Given the description of an element on the screen output the (x, y) to click on. 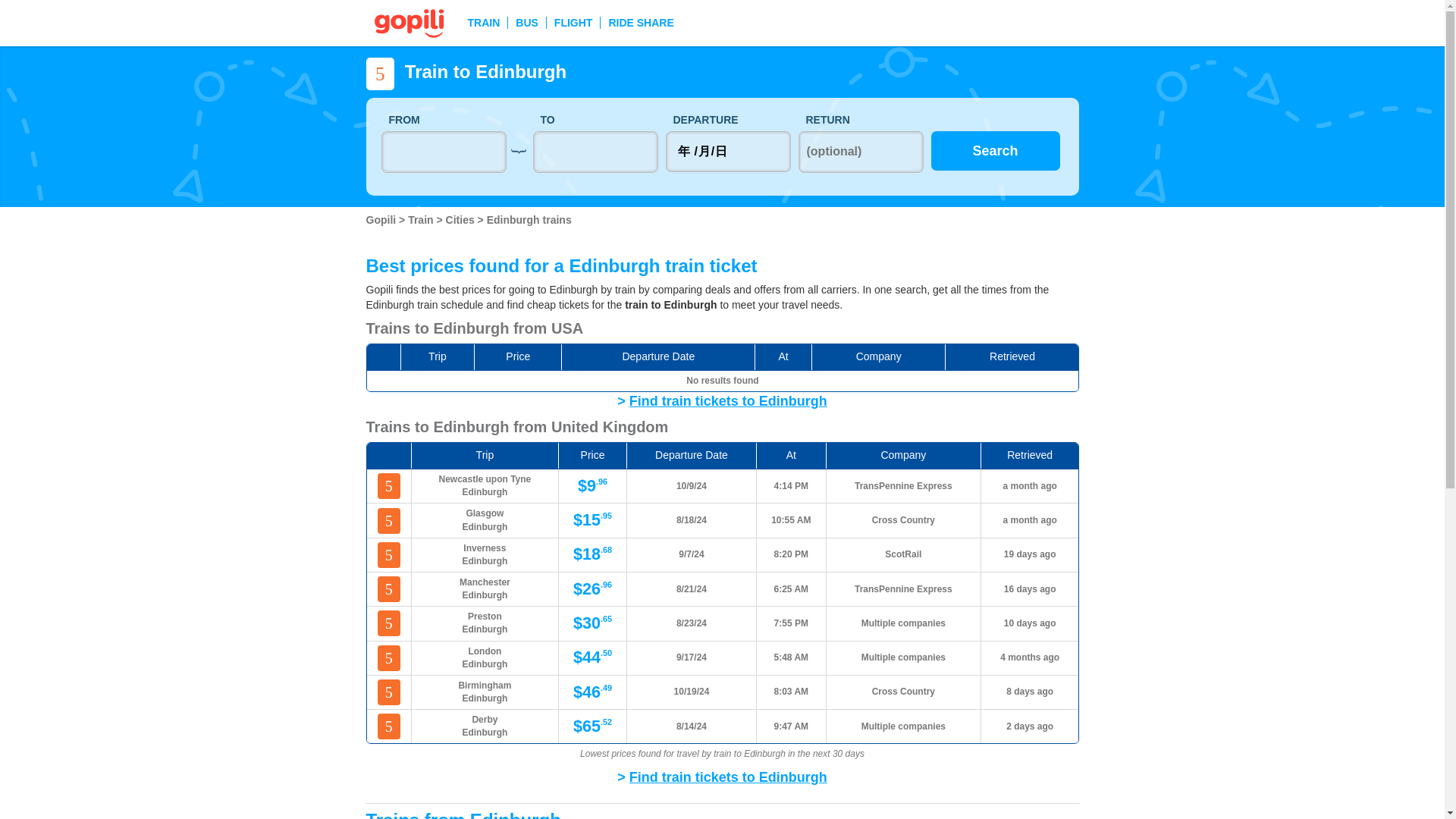
Edinburgh trains (529, 219)
Gopili (381, 219)
Train (421, 219)
Search (995, 150)
Cities (461, 219)
